Given the description of an element on the screen output the (x, y) to click on. 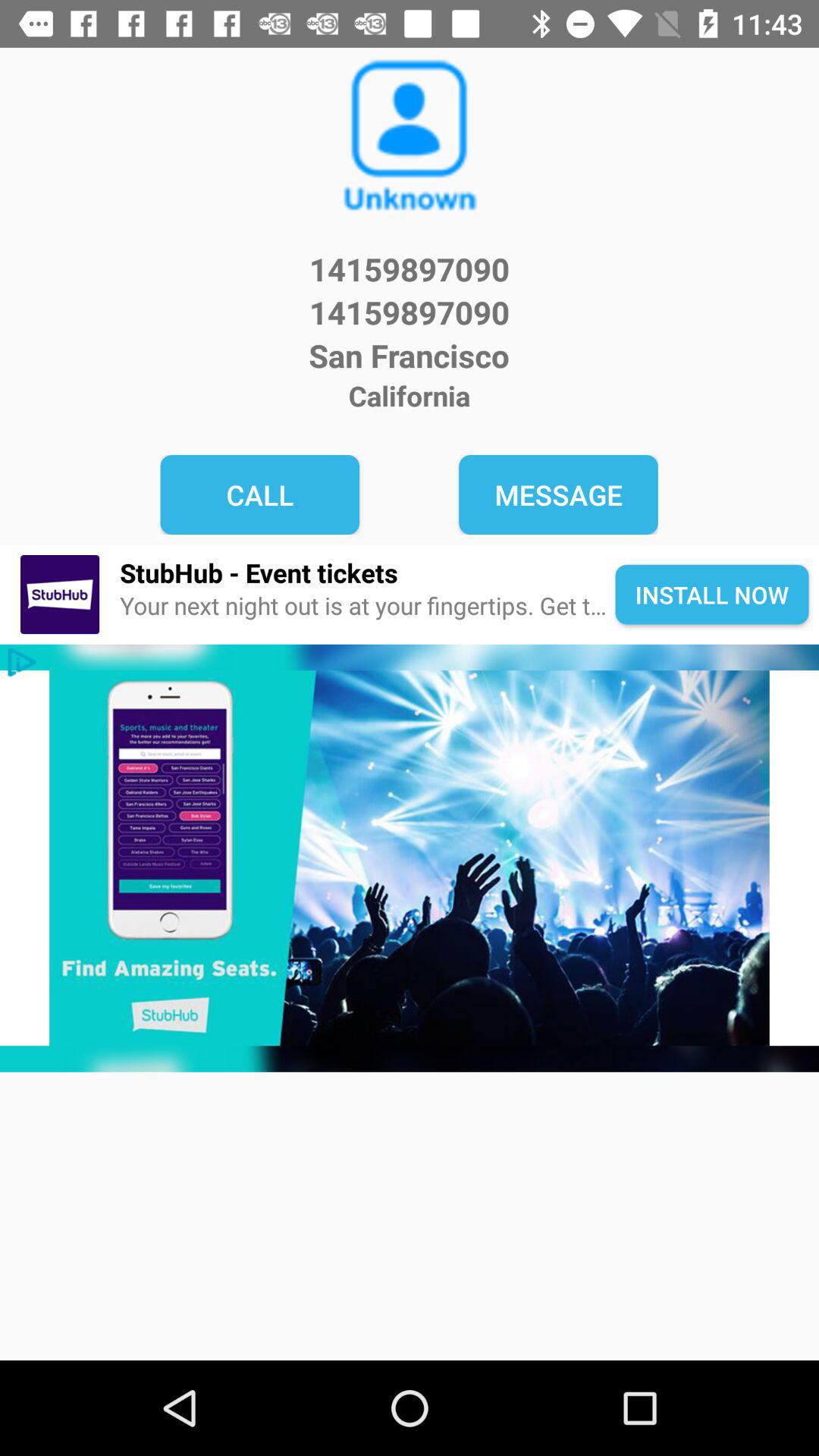
launch the icon below the california icon (558, 494)
